Given the description of an element on the screen output the (x, y) to click on. 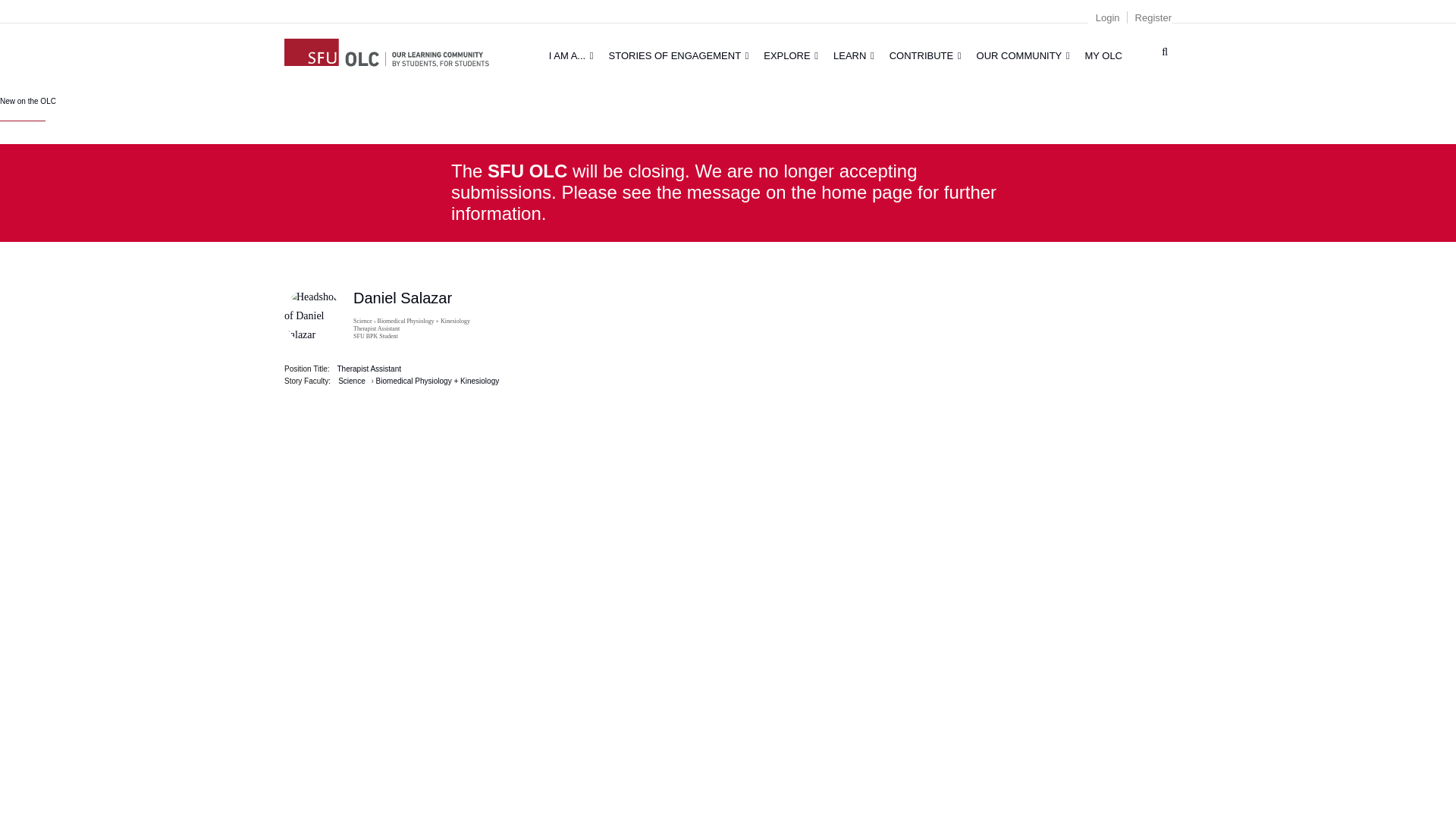
EXPLORE (790, 55)
OUR COMMUNITY (1023, 55)
CONTRIBUTE (925, 55)
Home (386, 50)
Login (1107, 17)
LEARN (853, 55)
I AM A... (571, 55)
STORIES OF ENGAGEMENT (679, 55)
Register (1153, 17)
